Given the description of an element on the screen output the (x, y) to click on. 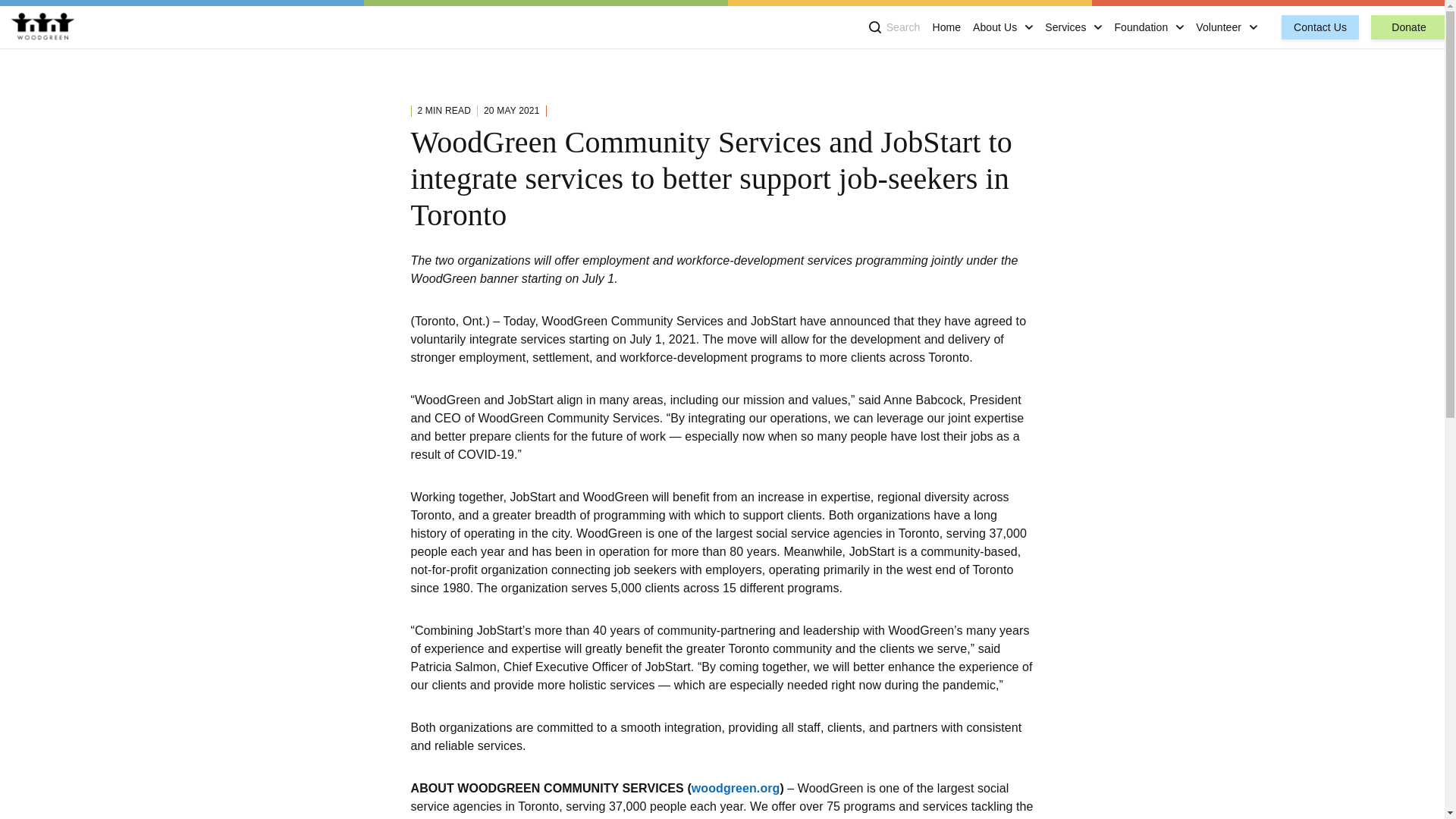
Search (894, 27)
Home (945, 27)
Foundation (1140, 27)
About Us (994, 27)
Services (1065, 27)
Volunteer (1218, 27)
